Given the description of an element on the screen output the (x, y) to click on. 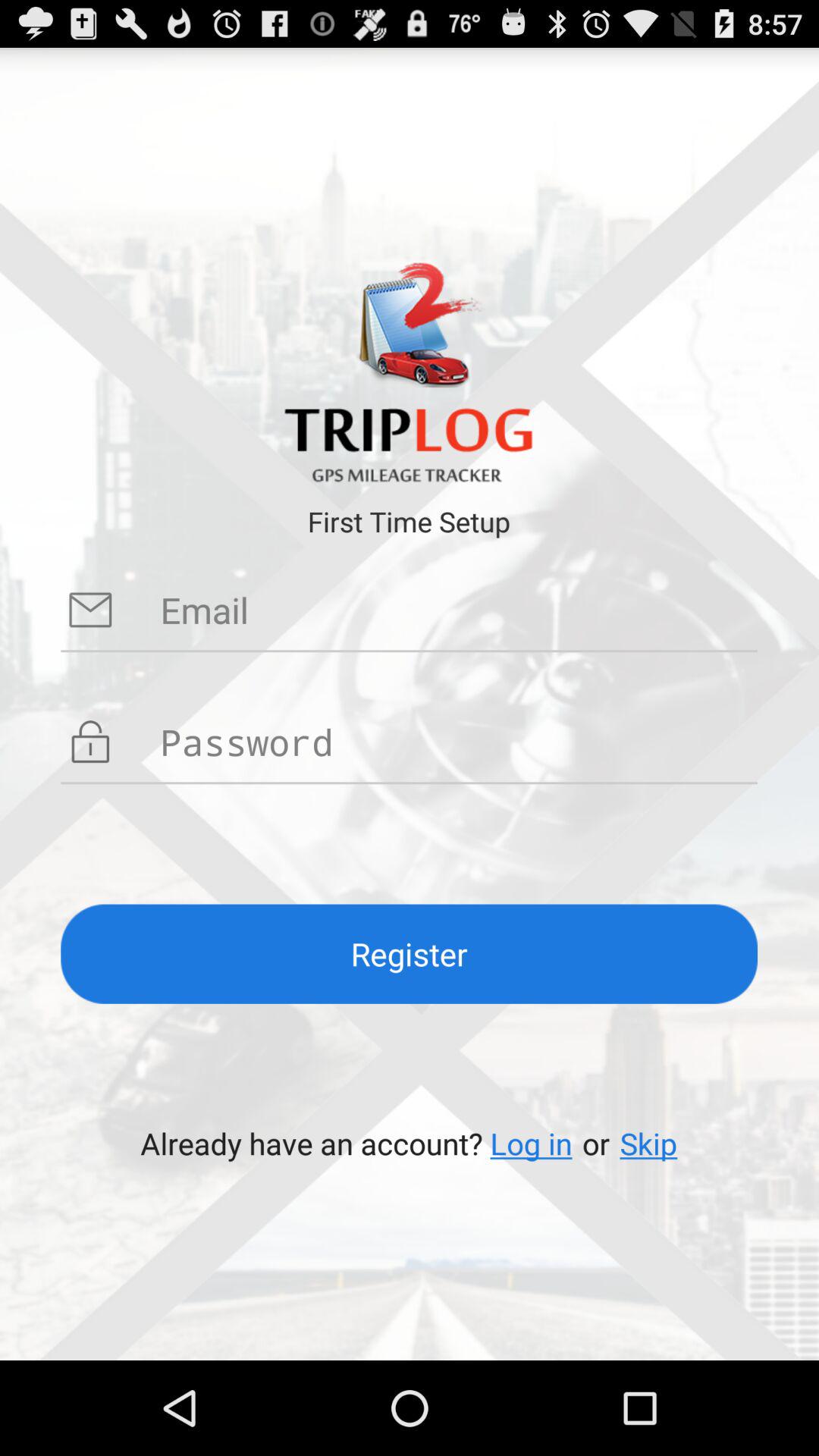
turn off app next to or app (648, 1143)
